Given the description of an element on the screen output the (x, y) to click on. 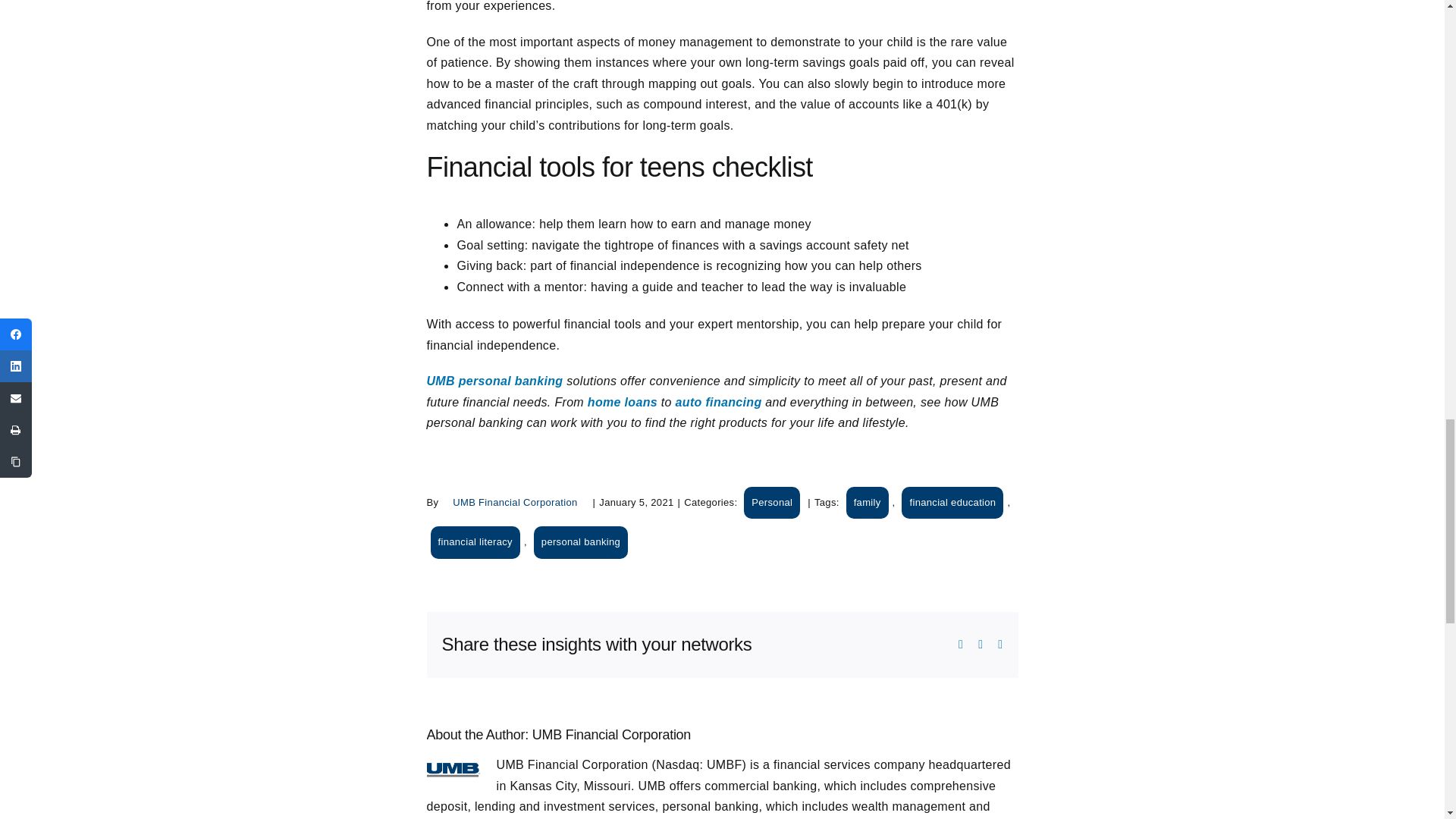
financial education (952, 502)
personal banking (580, 541)
Personal (771, 502)
home loans (623, 401)
UMB personal banking (494, 380)
family (866, 502)
Posts by UMB Financial Corporation (515, 502)
financial literacy (474, 541)
auto financing (718, 401)
UMB Financial Corporation (515, 502)
LinkedIn (980, 644)
Email (1000, 644)
Facebook (960, 644)
Posts by UMB Financial Corporation (611, 734)
UMB Financial Corporation (611, 734)
